Given the description of an element on the screen output the (x, y) to click on. 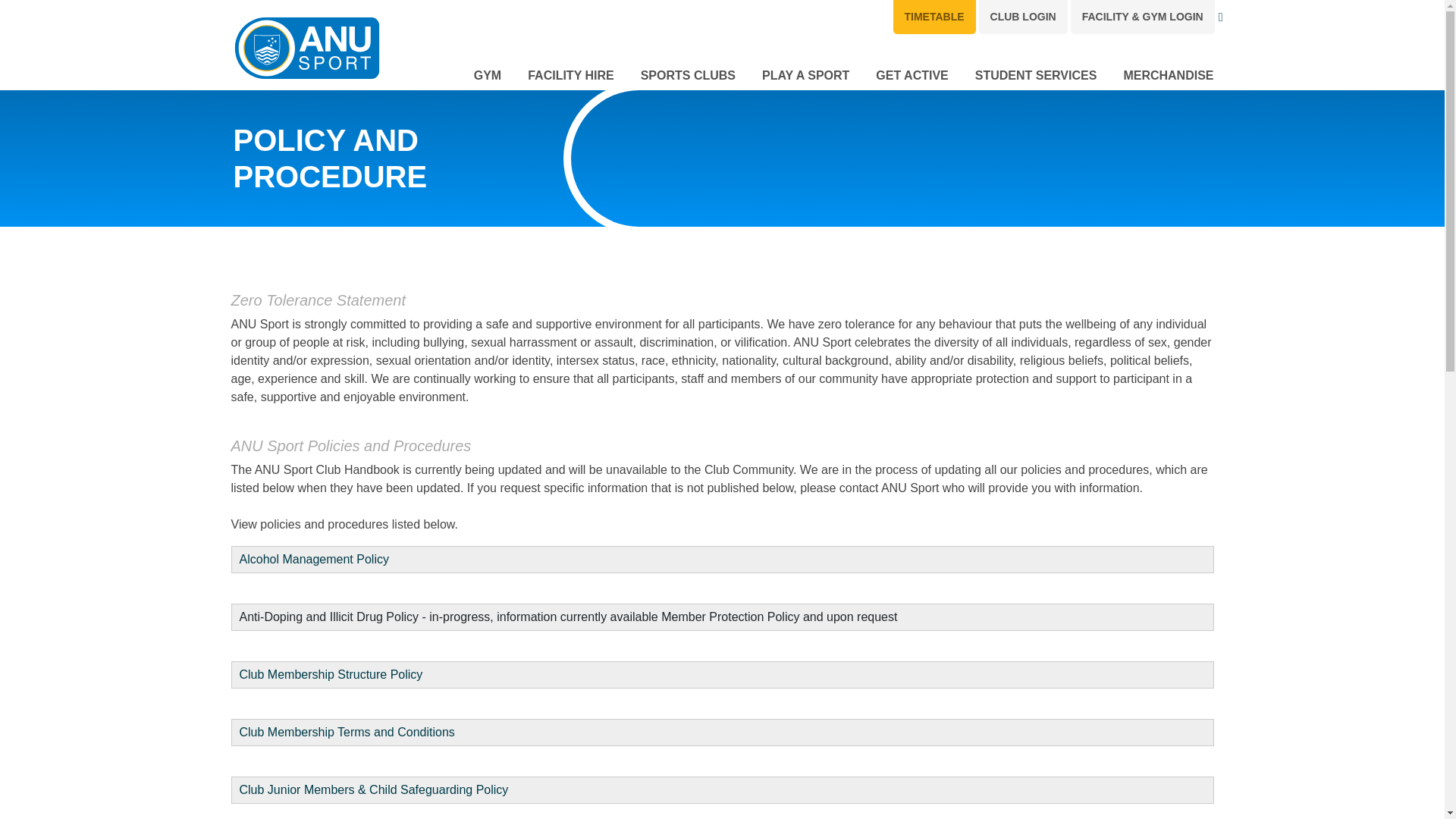
Club Membership Terms and Conditions (347, 731)
STUDENT SERVICES (1036, 72)
TIMETABLE (934, 17)
Alcohol Management Policy (314, 558)
SPORTS CLUBS (687, 72)
CLUB LOGIN (1022, 17)
FACILITY HIRE (570, 72)
Back to homepage (305, 47)
MERCHANDISE (1167, 72)
GET ACTIVE (911, 72)
